Given the description of an element on the screen output the (x, y) to click on. 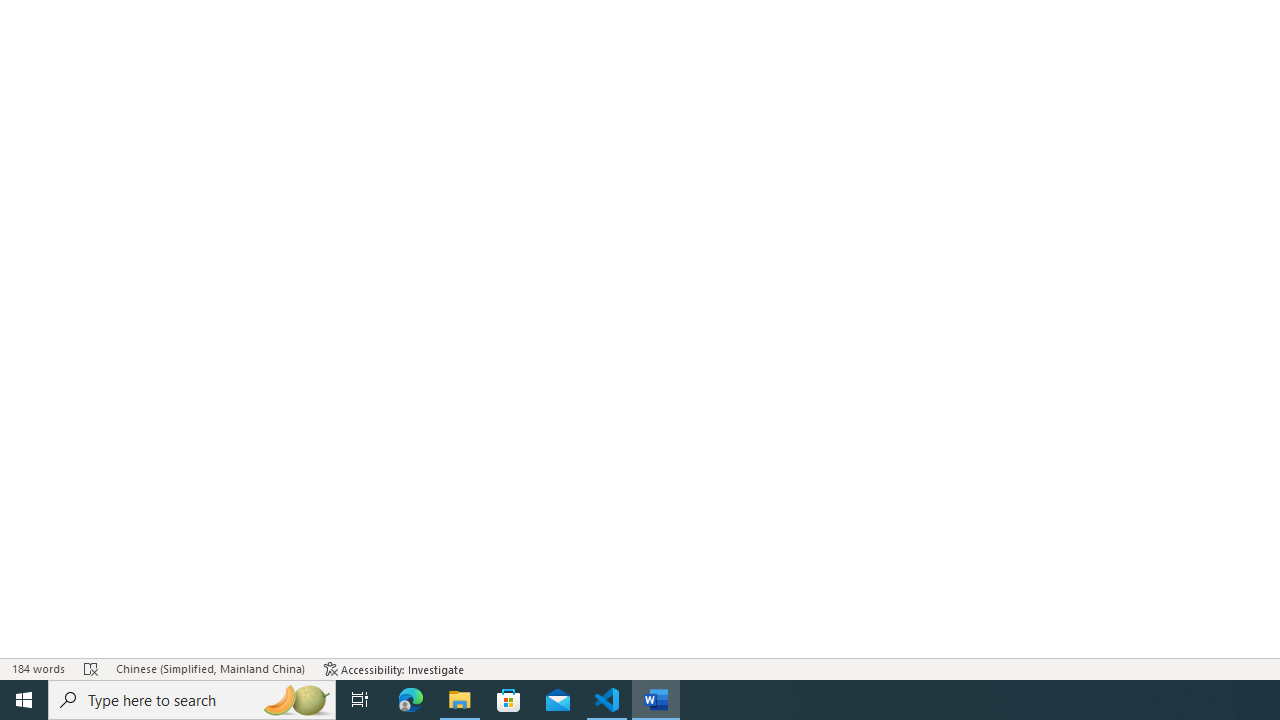
Spelling and Grammar Check Errors (91, 668)
Word Count 184 words (37, 668)
Accessibility Checker Accessibility: Investigate (394, 668)
Language Chinese (Simplified, Mainland China) (210, 668)
